Given the description of an element on the screen output the (x, y) to click on. 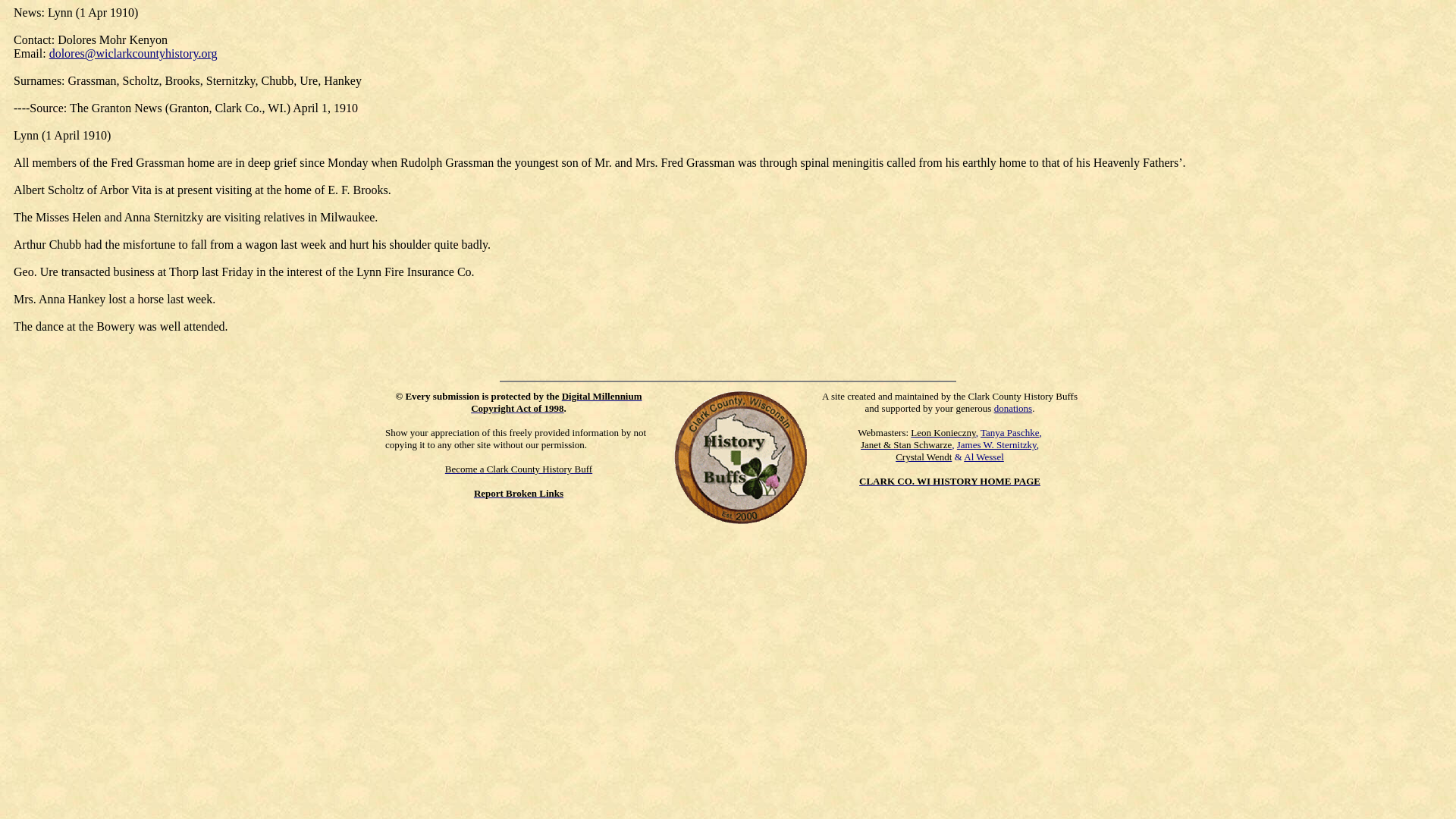
Al Wessel (983, 456)
donations (1013, 408)
James W. Sternitzky (996, 444)
Leon Konieczny (943, 432)
Digital Millennium Copyright Act of 1998 (556, 402)
Tanya Paschke (1009, 432)
Become a Clark County History Buff (518, 469)
CLARK CO. WI HISTORY HOME PAGE (950, 480)
Report Broken Links (518, 492)
Crystal Wendt (923, 456)
